Given the description of an element on the screen output the (x, y) to click on. 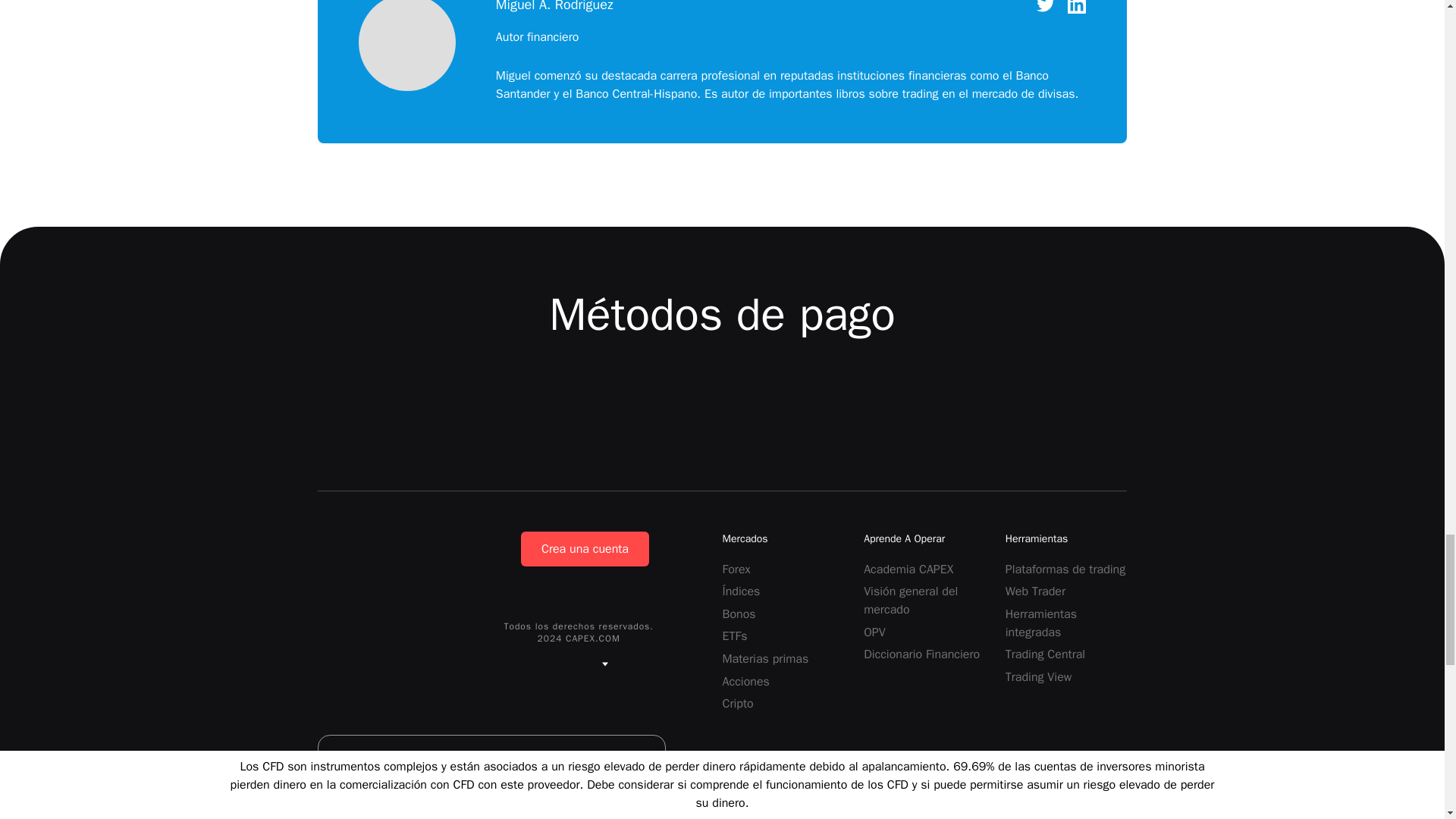
Miguel A. Rodriguez (406, 46)
